Given the description of an element on the screen output the (x, y) to click on. 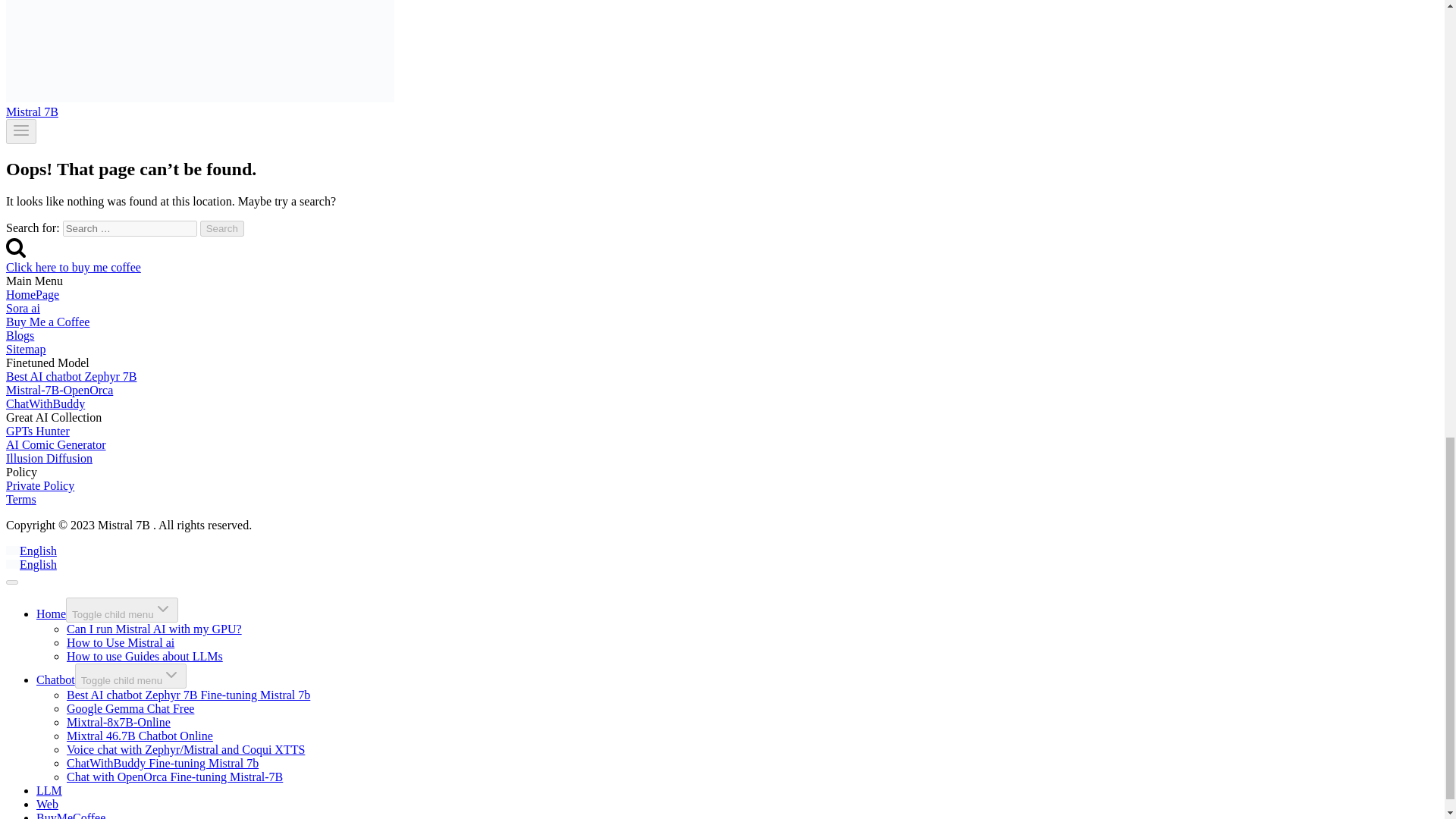
Search (15, 246)
Blogs (19, 335)
Sora ai (22, 308)
AI Comic Generator (55, 444)
Toggle Menu (20, 131)
English (12, 563)
Private Policy (39, 485)
GPTs Hunter (37, 431)
Search (222, 228)
English (30, 550)
Illusion Diffusion (49, 458)
Buy Me a Coffee (46, 321)
Search (222, 228)
English (30, 563)
Click here to buy me coffee (73, 267)
